Given the description of an element on the screen output the (x, y) to click on. 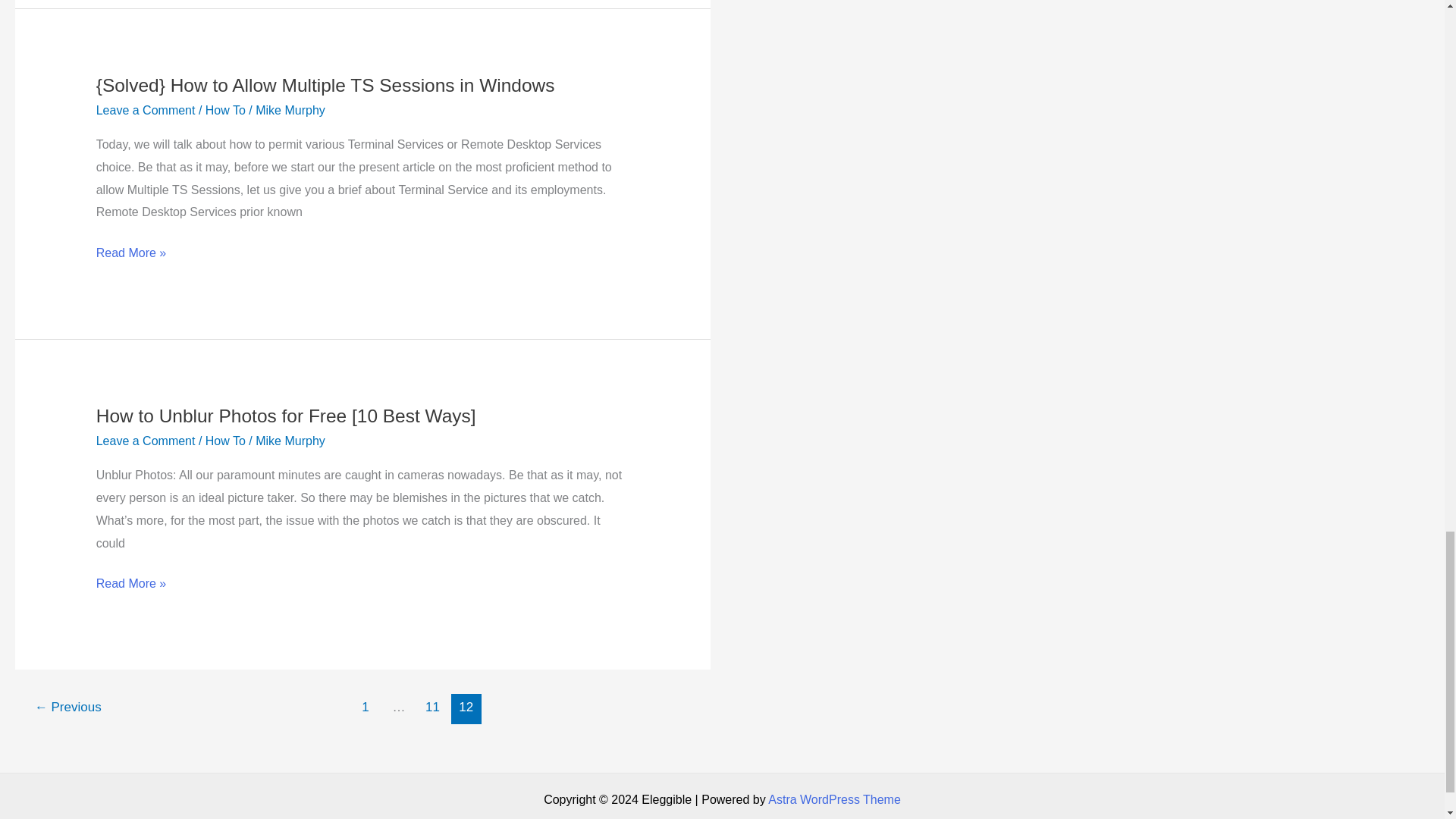
View all posts by Mike Murphy (290, 440)
View all posts by Mike Murphy (290, 110)
